Given the description of an element on the screen output the (x, y) to click on. 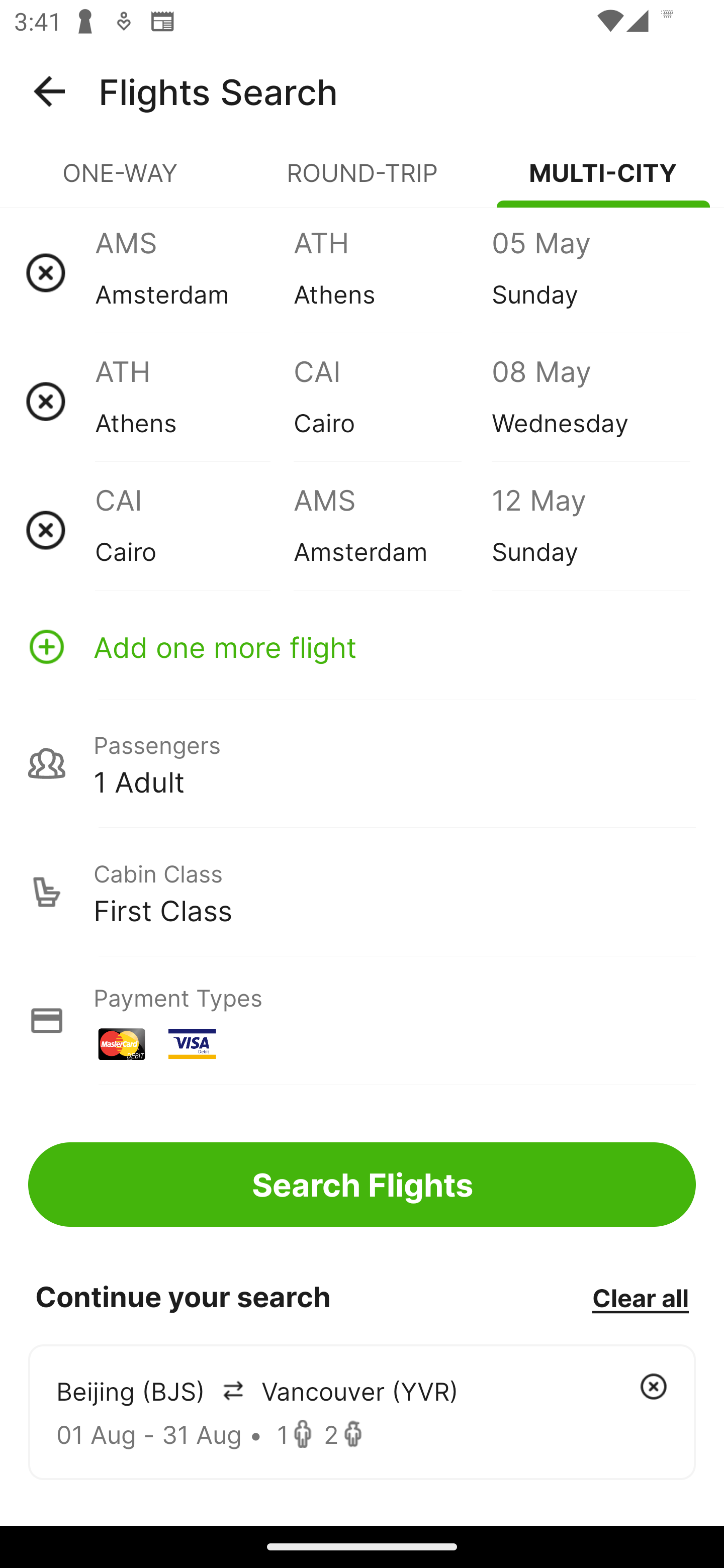
ONE-WAY (120, 180)
ROUND-TRIP (361, 180)
MULTI-CITY (603, 180)
AMS Amsterdam (193, 272)
ATH Athens (392, 272)
05 May Sunday (590, 272)
ATH Athens (193, 401)
CAI Cairo (392, 401)
08 May Wednesday (590, 401)
CAI Cairo (193, 529)
AMS Amsterdam (392, 529)
12 May Sunday (590, 529)
Add one more flight (362, 646)
Passengers 1 Adult (362, 762)
Cabin Class First Class (362, 891)
Payment Types (362, 1020)
Search Flights (361, 1184)
Clear all (640, 1297)
